Given the description of an element on the screen output the (x, y) to click on. 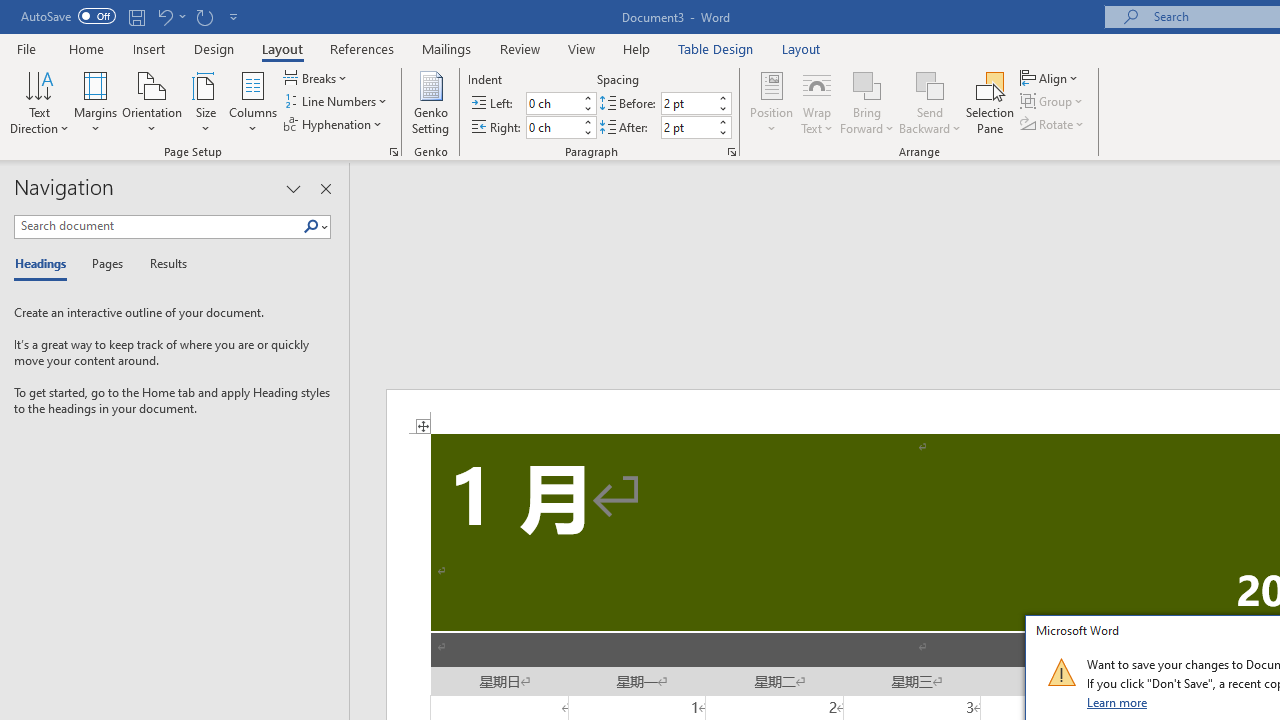
Wrap Text (817, 102)
Layout (801, 48)
Group (1053, 101)
Quick Access Toolbar (131, 16)
Undo Increase Indent (164, 15)
View (582, 48)
Customize Quick Access Toolbar (234, 15)
Rotate (1053, 124)
Review (520, 48)
Class: NetUIImage (1061, 671)
Orientation (152, 102)
